Given the description of an element on the screen output the (x, y) to click on. 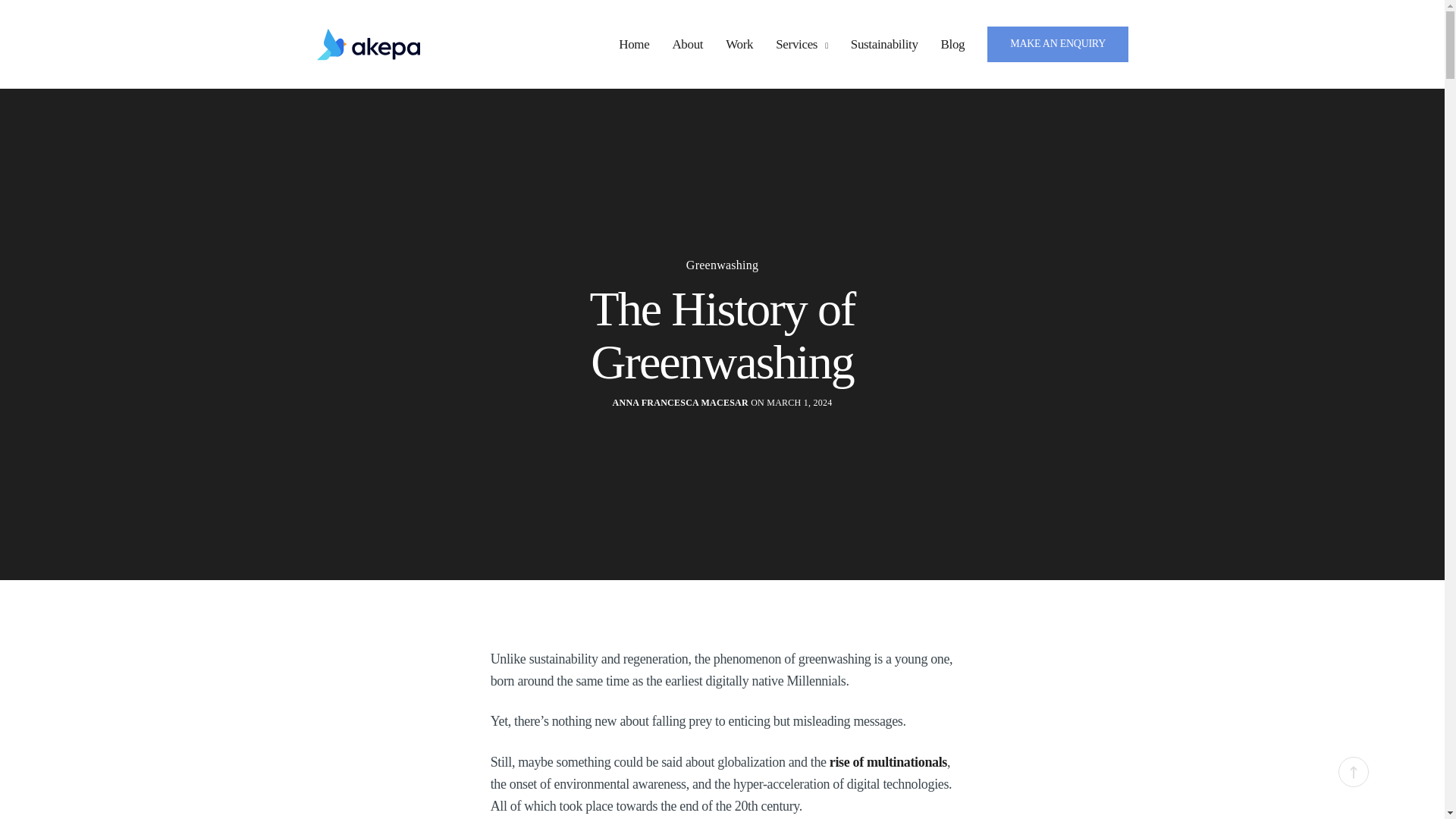
Posts by Anna Francesca Macesar (680, 402)
Sustainability (883, 44)
Services (802, 44)
ANNA FRANCESCA MACESAR (680, 402)
Greenwashing (721, 265)
rise of multinationals (888, 761)
The Sustainable Agency (368, 44)
MAKE AN ENQUIRY (1057, 44)
